Given the description of an element on the screen output the (x, y) to click on. 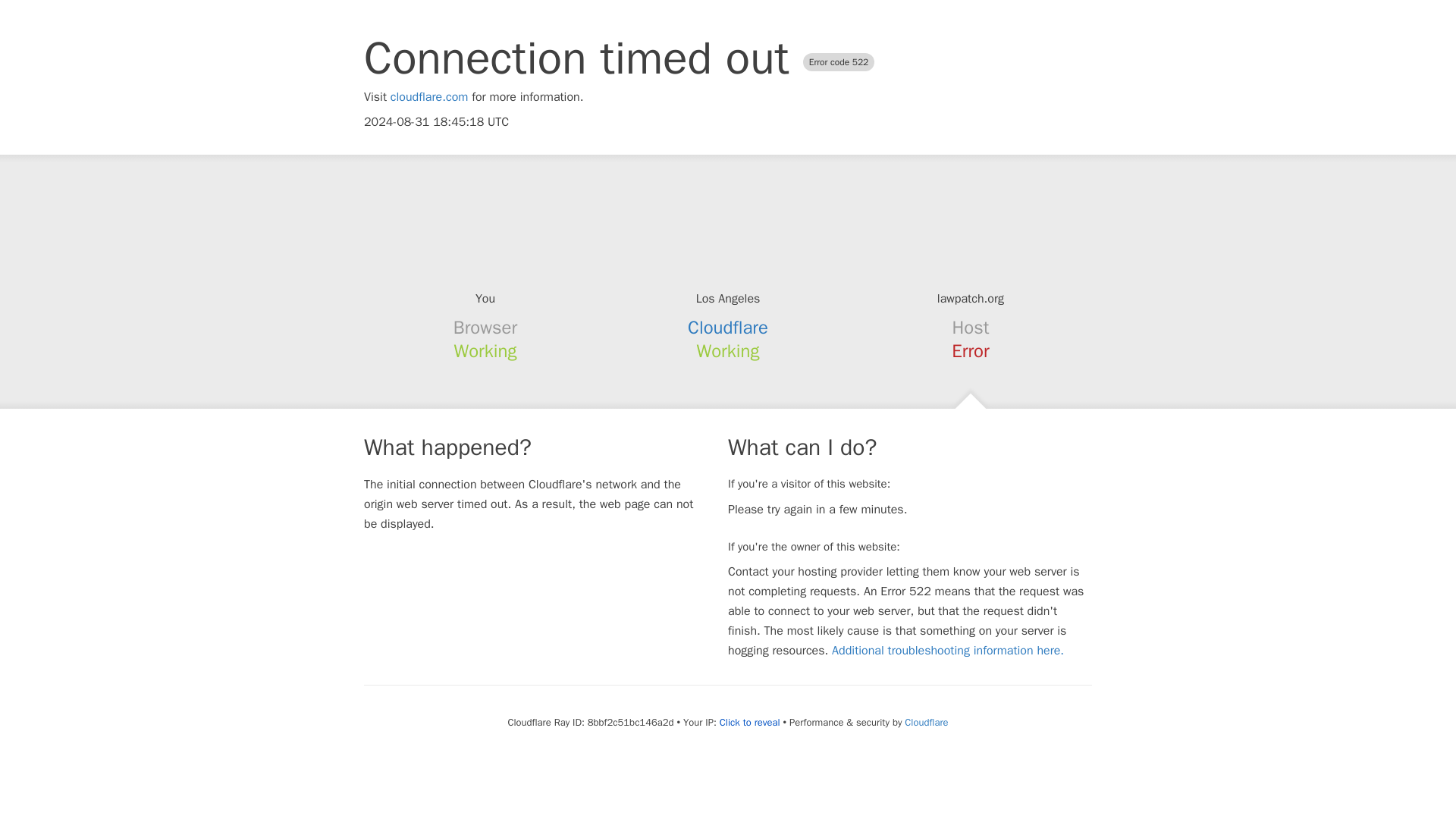
Cloudflare (727, 327)
Cloudflare (925, 721)
Additional troubleshooting information here. (947, 650)
cloudflare.com (429, 96)
Click to reveal (749, 722)
